Given the description of an element on the screen output the (x, y) to click on. 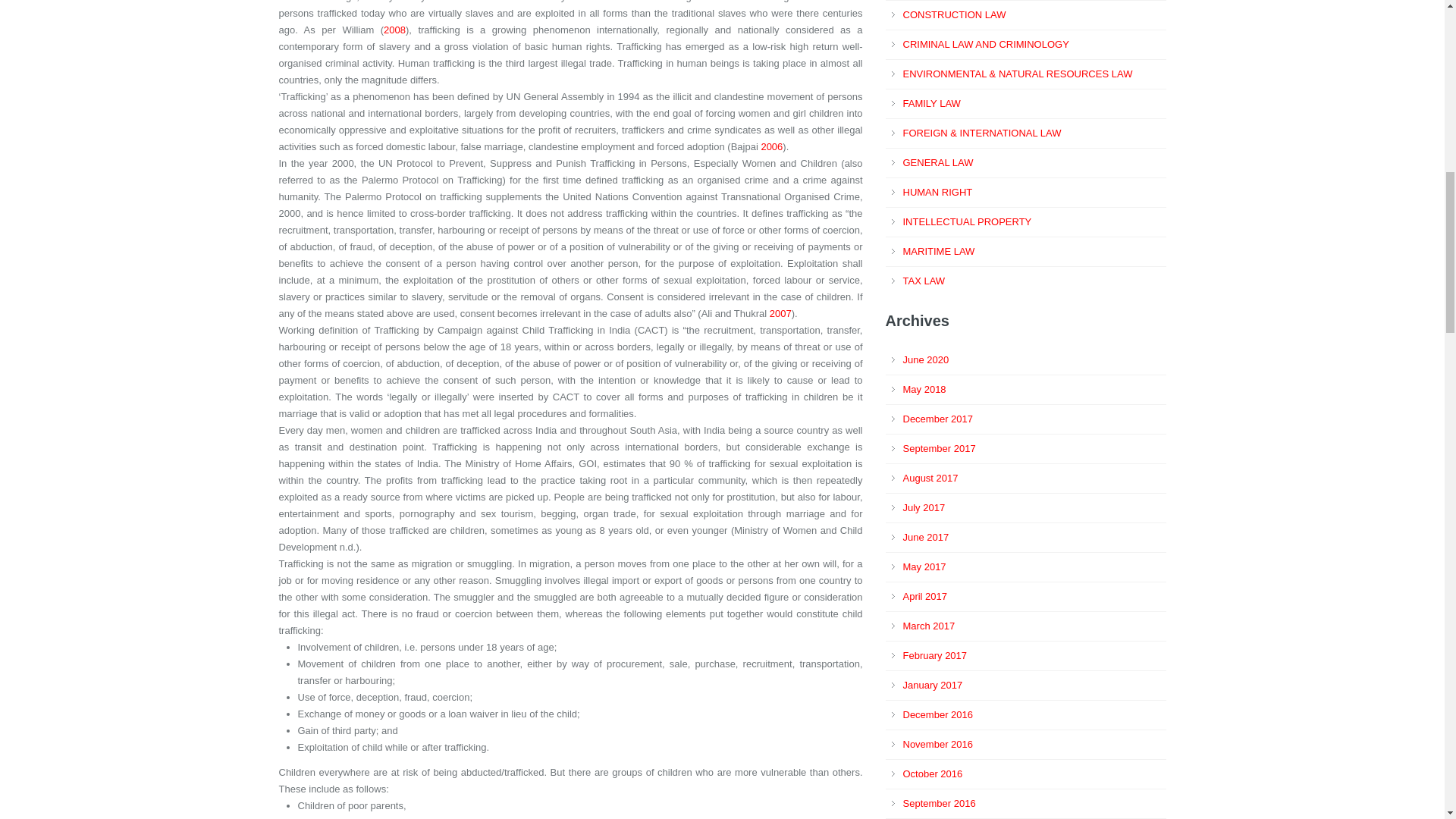
2006 (771, 146)
2007 (781, 313)
2008 (395, 30)
